Given the description of an element on the screen output the (x, y) to click on. 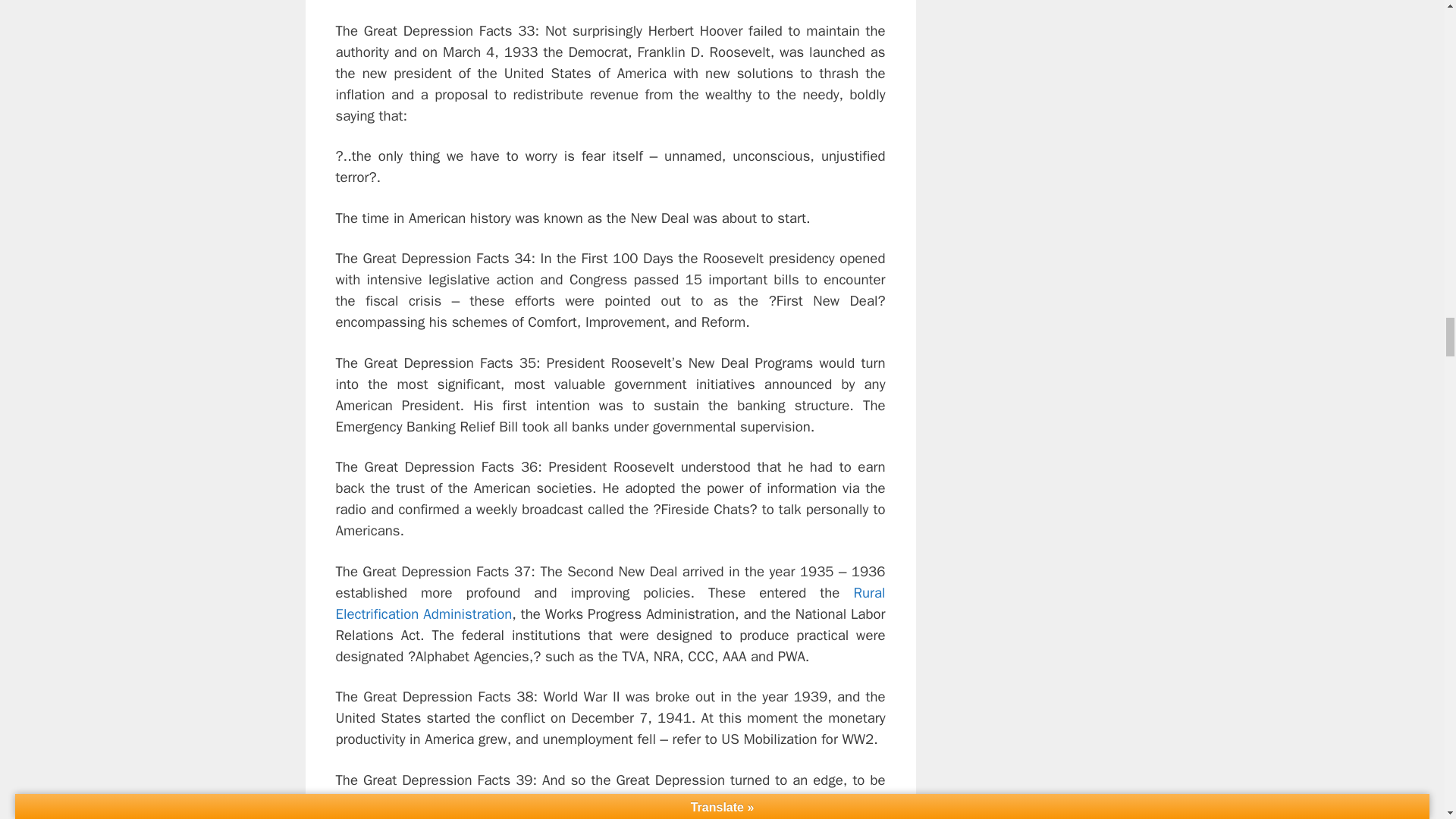
Rural Electrification Administration (609, 603)
